Given the description of an element on the screen output the (x, y) to click on. 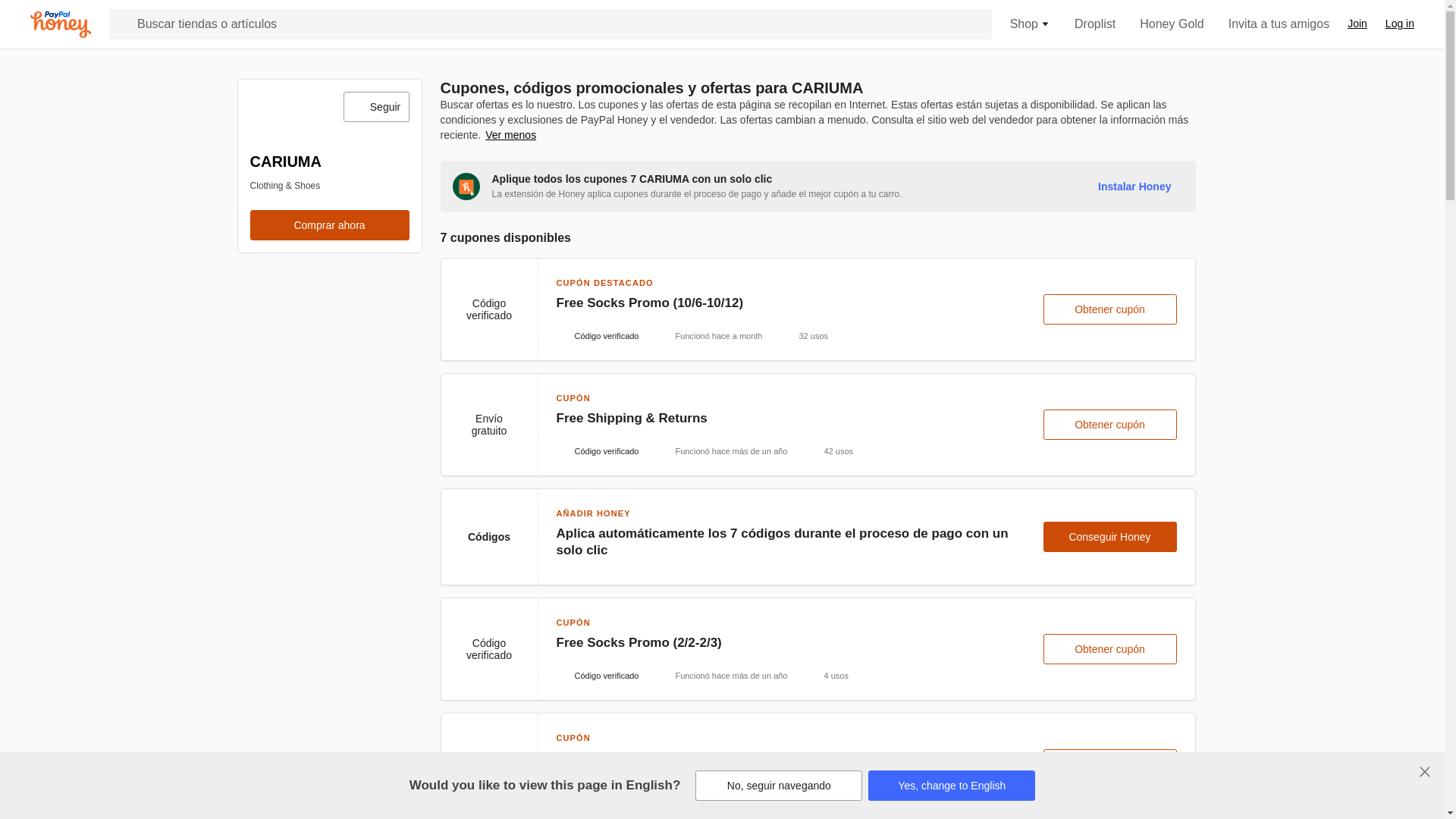
Honey Gold (1172, 24)
No, seguir navegando (778, 785)
Yes, change to English (951, 785)
Droplist (1094, 24)
Conseguir Honey (1109, 536)
Invita a tus amigos (1278, 24)
Seguir (375, 106)
Ver menos (509, 134)
Comprar ahora (329, 224)
Instalar Honey (1133, 186)
